Given the description of an element on the screen output the (x, y) to click on. 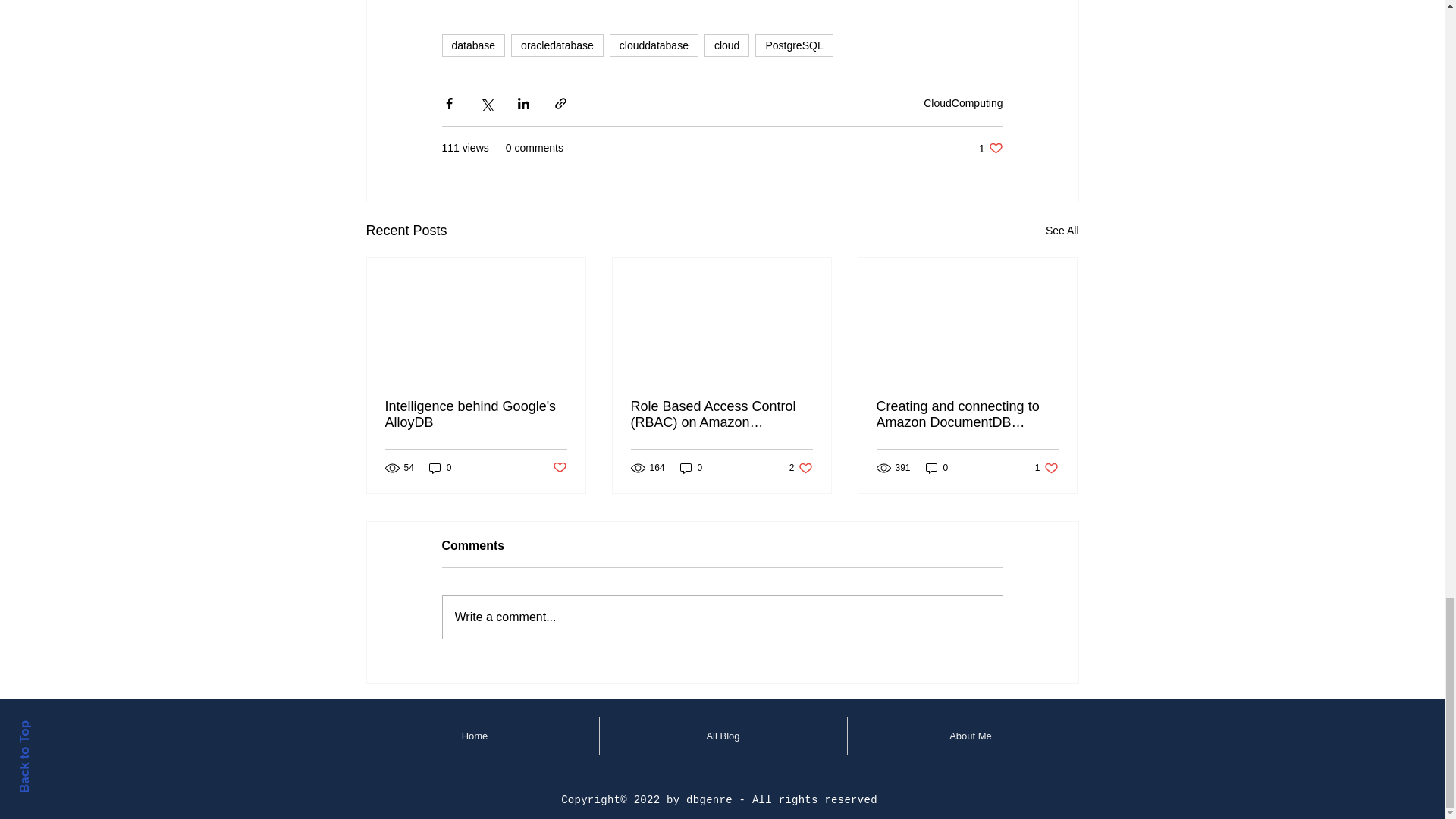
oracledatabase (557, 45)
PostgreSQL (793, 45)
See All (1061, 230)
Intelligence behind Google's AlloyDB (476, 414)
0 (440, 468)
CloudComputing (963, 102)
clouddatabase (654, 45)
database (473, 45)
cloud (990, 147)
0 (726, 45)
0 (691, 468)
Creating and connecting to Amazon DocumentDB Cluster (937, 468)
Post not marked as liked (800, 468)
